Given the description of an element on the screen output the (x, y) to click on. 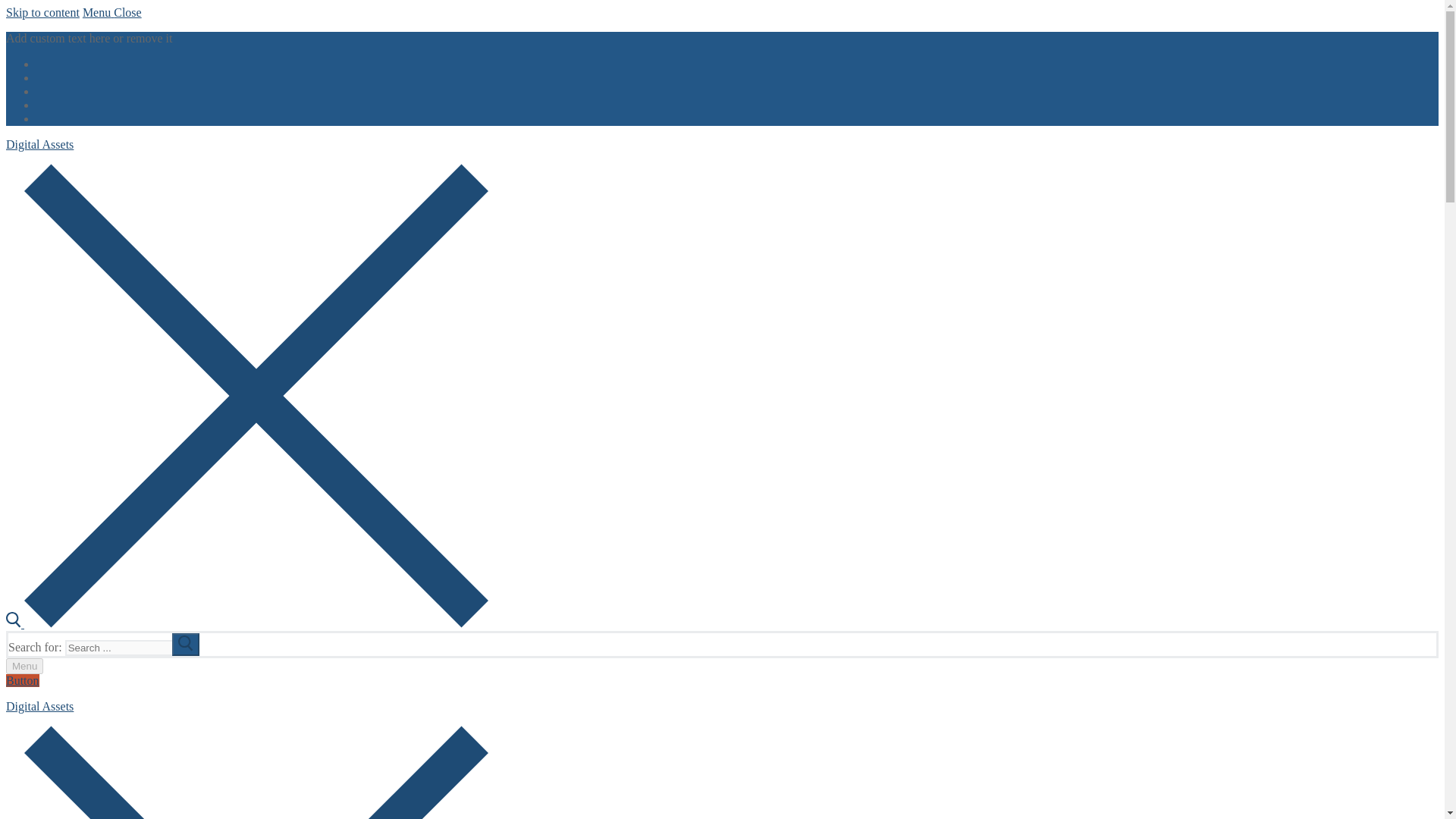
Digital Assets (39, 144)
Skip to content (42, 11)
Menu Close (111, 11)
Button (22, 680)
Menu (24, 666)
Digital Assets (39, 706)
Search for: (132, 647)
